Given the description of an element on the screen output the (x, y) to click on. 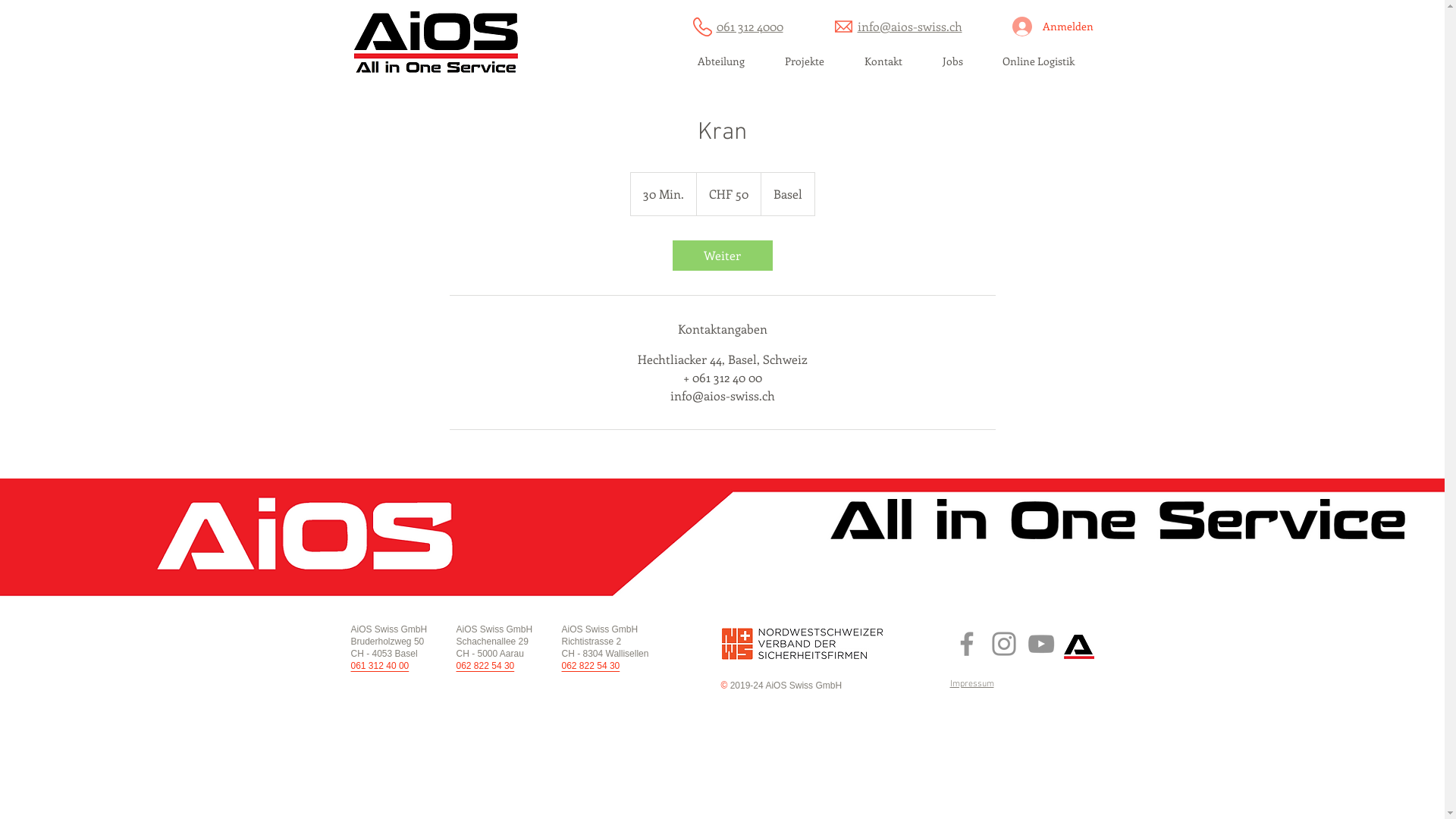
061 312 4000 Element type: text (748, 26)
Impressum Element type: text (971, 683)
Abteilung Element type: text (721, 65)
info@aios-swiss.ch Element type: text (908, 26)
Jobs Element type: text (952, 65)
062 822 54 30 Element type: text (485, 665)
Anmelden Element type: text (1046, 26)
Projekte Element type: text (804, 65)
Weiter Element type: text (721, 255)
Kontakt Element type: text (883, 65)
061 312 40 00 Element type: text (379, 665)
062 822 54 30 Element type: text (590, 665)
Online Logistik Element type: text (1038, 65)
